Given the description of an element on the screen output the (x, y) to click on. 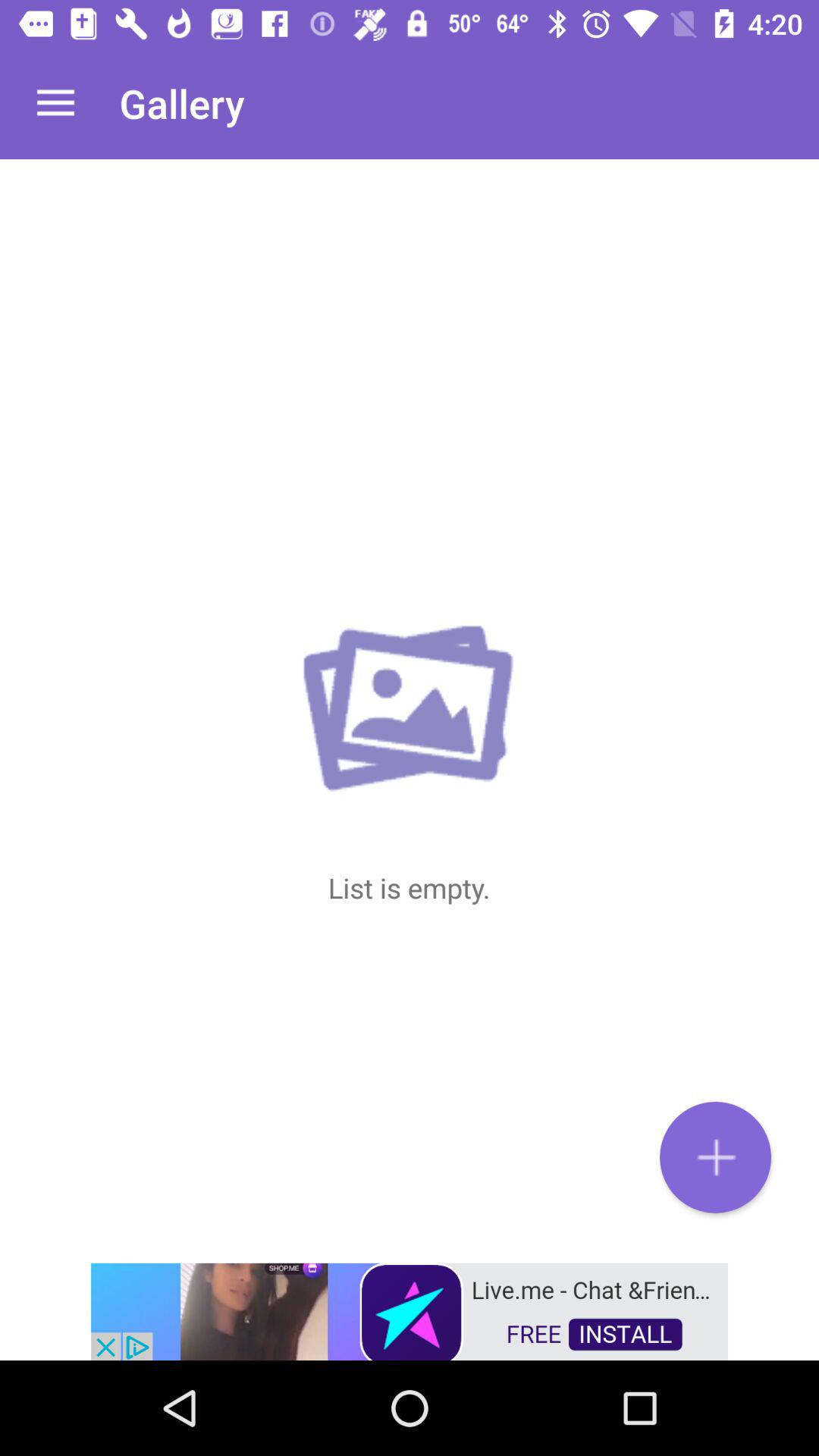
add photo (715, 1157)
